Given the description of an element on the screen output the (x, y) to click on. 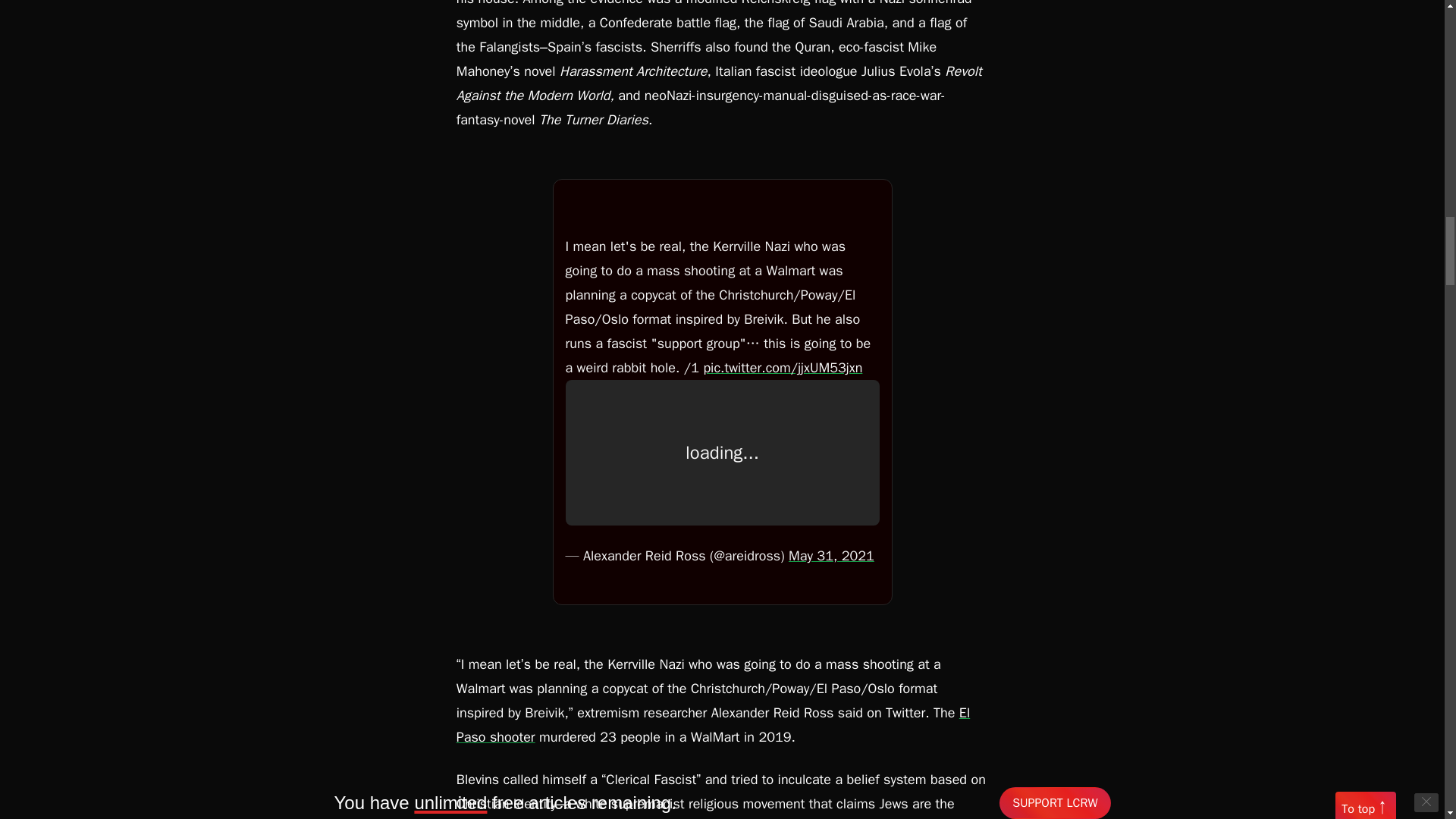
May 31, 2021 (832, 555)
El Paso shooter (714, 724)
